Given the description of an element on the screen output the (x, y) to click on. 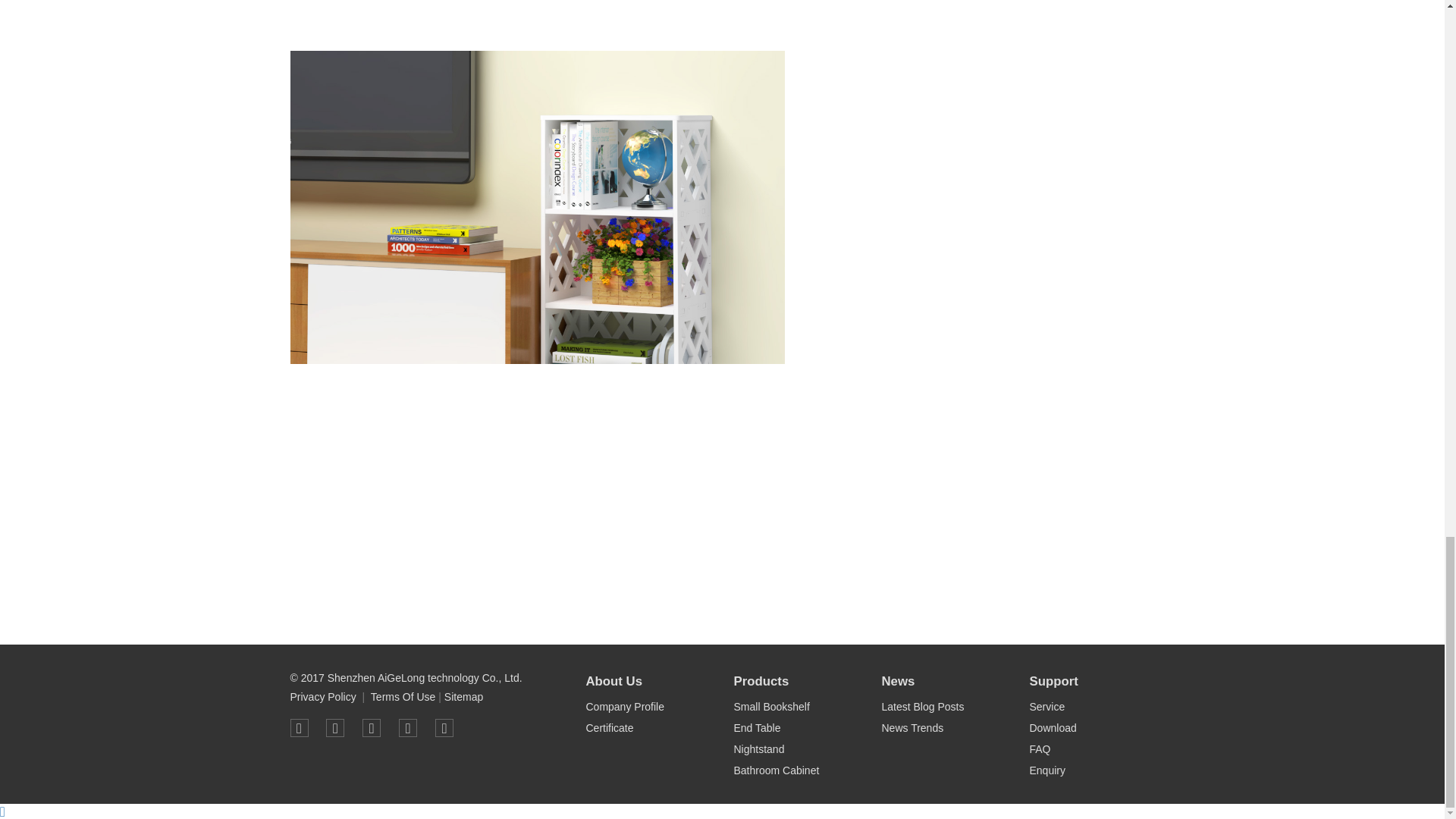
Enquiry (1046, 770)
Nightstand (758, 749)
News Trends (911, 727)
Latest Blog Posts (921, 706)
Privacy Policy (322, 696)
Nightstand (758, 749)
End Table (756, 727)
Bathroom Cabinet (775, 770)
Company Profile (624, 706)
